Given the description of an element on the screen output the (x, y) to click on. 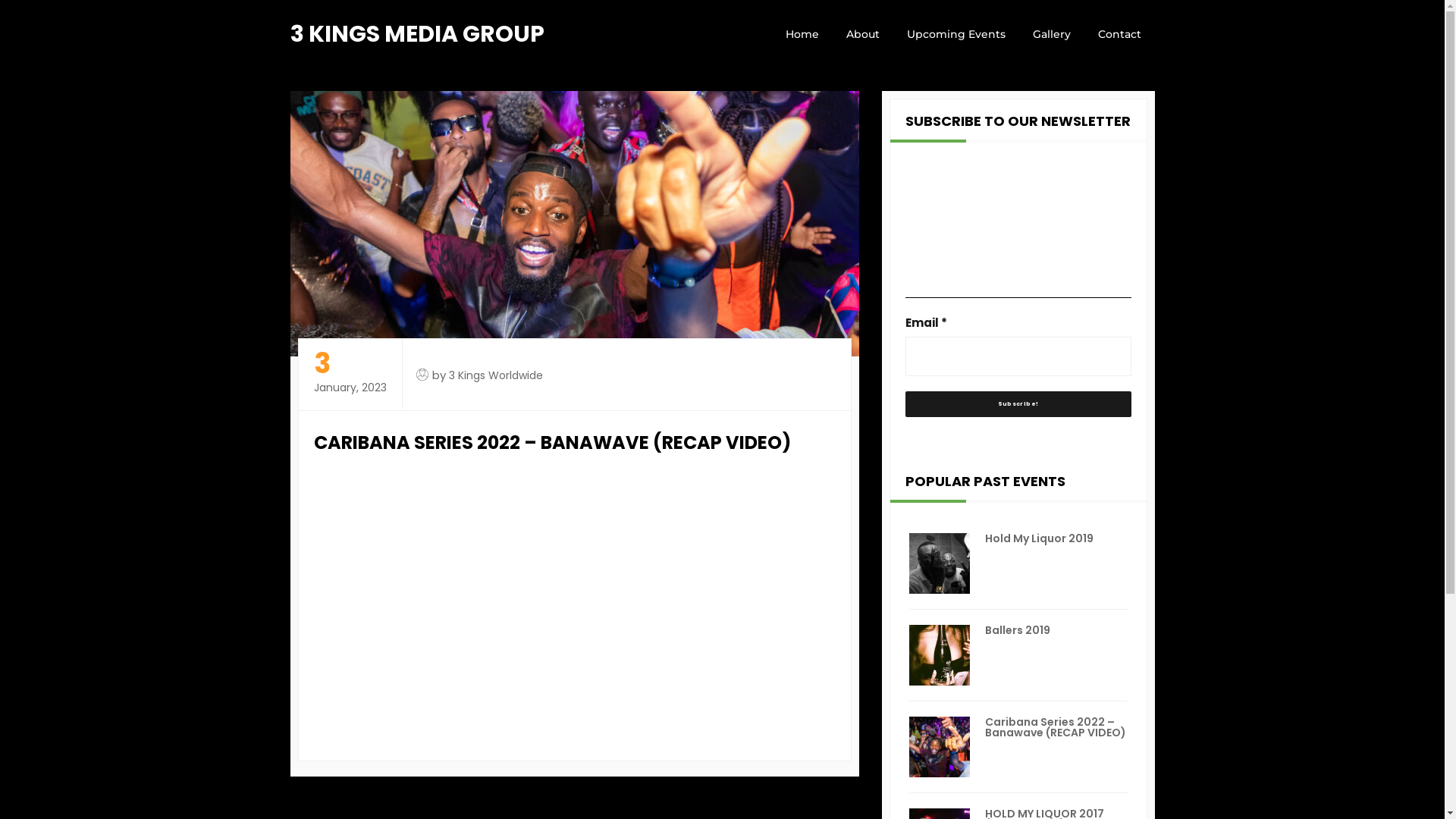
Caribana Series 2022: Banawave Recap Video Element type: hover (556, 603)
Subscribe! Element type: text (1018, 404)
Gallery Element type: text (1051, 34)
3 KINGS MEDIA GROUP Element type: text (416, 34)
3
January, 2023 Element type: text (349, 372)
Upcoming Events Element type: text (956, 34)
Email Element type: hover (1018, 356)
Ballers 2019 Element type: text (1016, 629)
Hold My Liquor 2019 Element type: text (1038, 538)
Home Element type: text (801, 34)
3 Kings Worldwide Element type: text (495, 374)
About Element type: text (862, 34)
Contact Element type: text (1119, 34)
